Given the description of an element on the screen output the (x, y) to click on. 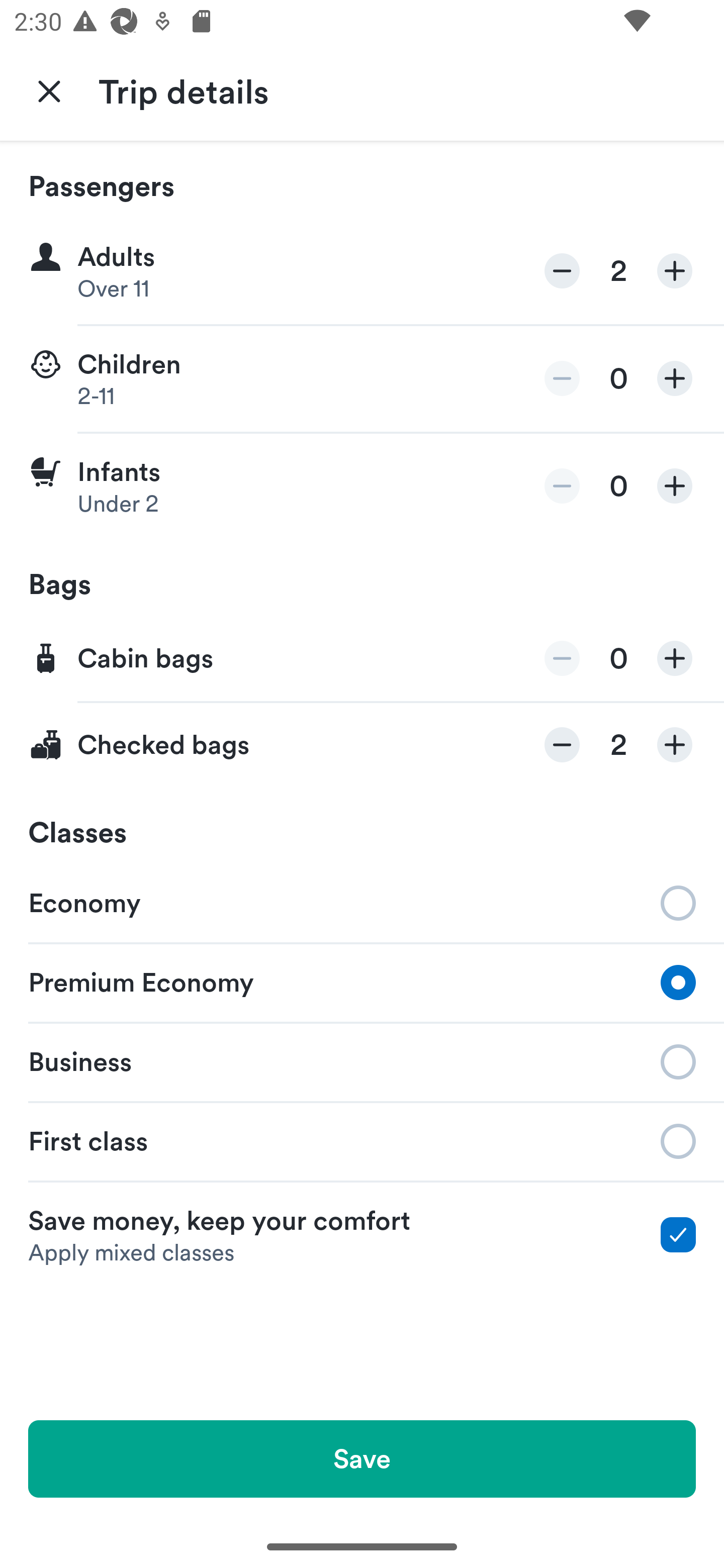
Navigate up (49, 90)
Remove 2 Add Adults Over 11 (362, 271)
Remove (561, 270)
Add (674, 270)
Remove 0 Add Children 2-11 (362, 379)
Remove (561, 377)
Add (674, 377)
Remove 0 Add Infants Under 2 (362, 485)
Remove (561, 485)
Add (674, 485)
Remove 0 Add Cabin bags (362, 659)
Remove (561, 658)
Add (674, 658)
Remove 2 Add Checked bags (362, 744)
Remove (561, 744)
Add (674, 744)
Economy (362, 901)
Business (362, 1060)
First class (362, 1141)
Save (361, 1458)
